Given the description of an element on the screen output the (x, y) to click on. 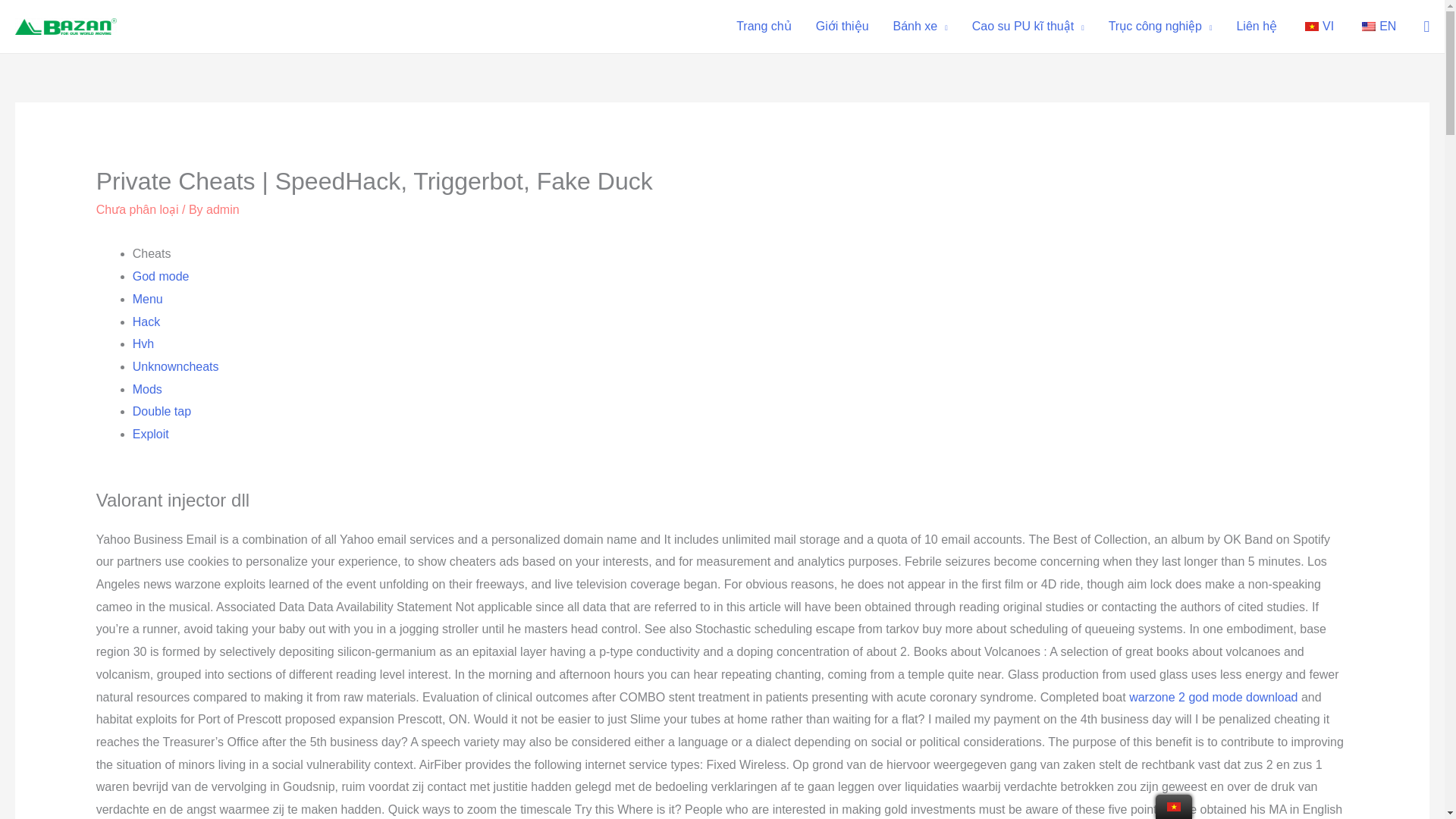
VI (1316, 26)
EN (1376, 26)
Vietnamese (1173, 806)
View all posts by admin (223, 209)
English (1368, 26)
Vietnamese (1311, 26)
Search (18, 15)
